Given the description of an element on the screen output the (x, y) to click on. 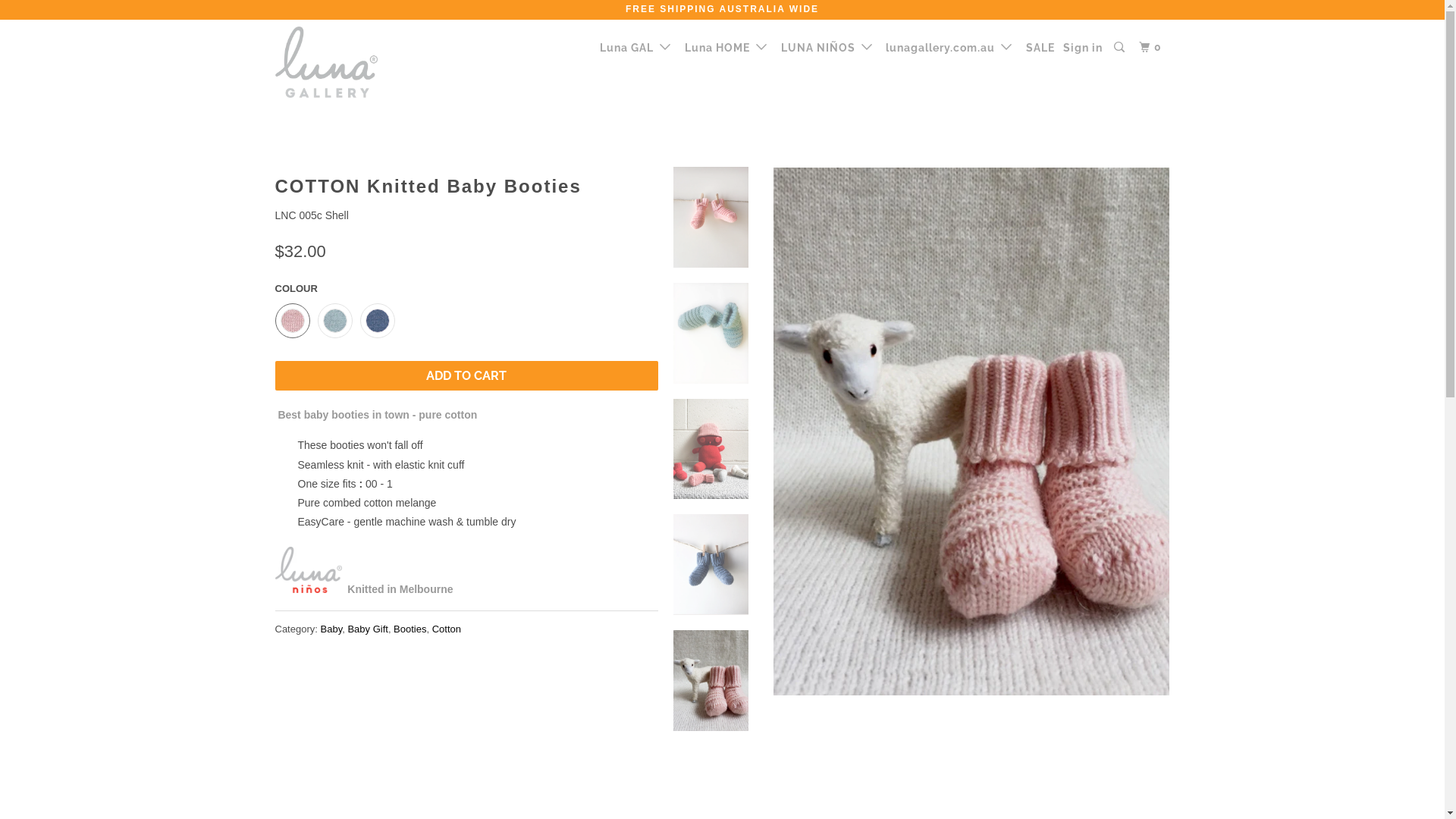
Luna GAL   Element type: text (636, 47)
ADD TO CART Element type: text (465, 375)
Cotton Element type: text (446, 628)
lunagallery Element type: hover (351, 61)
Baby Element type: text (331, 628)
lunagallery.com.au   Element type: text (949, 47)
0 Element type: text (1151, 47)
Luna HOME   Element type: text (726, 47)
COTTON Knitted Baby Booties Element type: hover (970, 431)
SALE Element type: text (1039, 47)
Baby Gift Element type: text (367, 628)
Search Element type: hover (1120, 47)
Sign in Element type: text (1082, 47)
Booties Element type: text (409, 628)
